Given the description of an element on the screen output the (x, y) to click on. 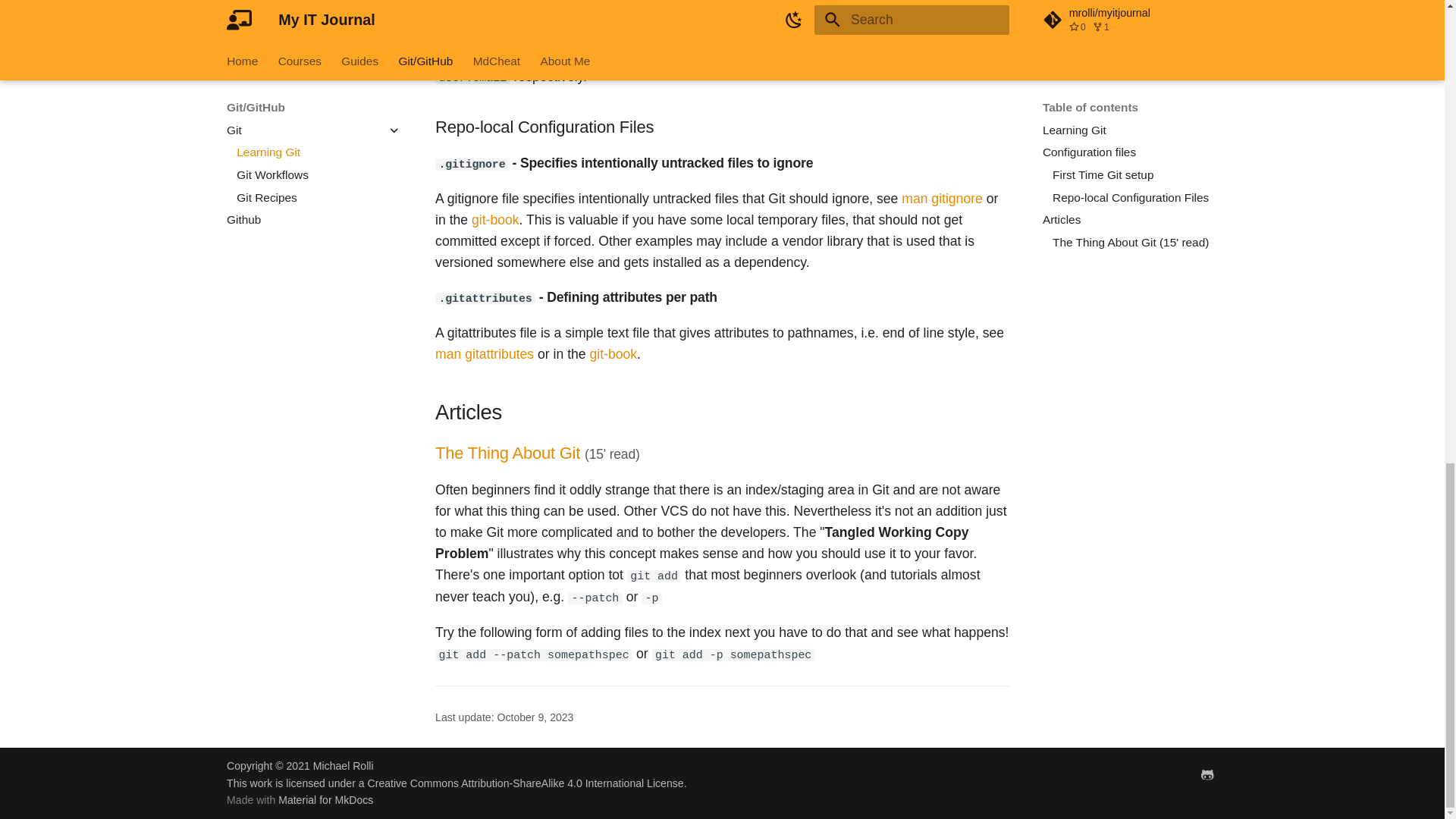
github.com (1207, 774)
